Given the description of an element on the screen output the (x, y) to click on. 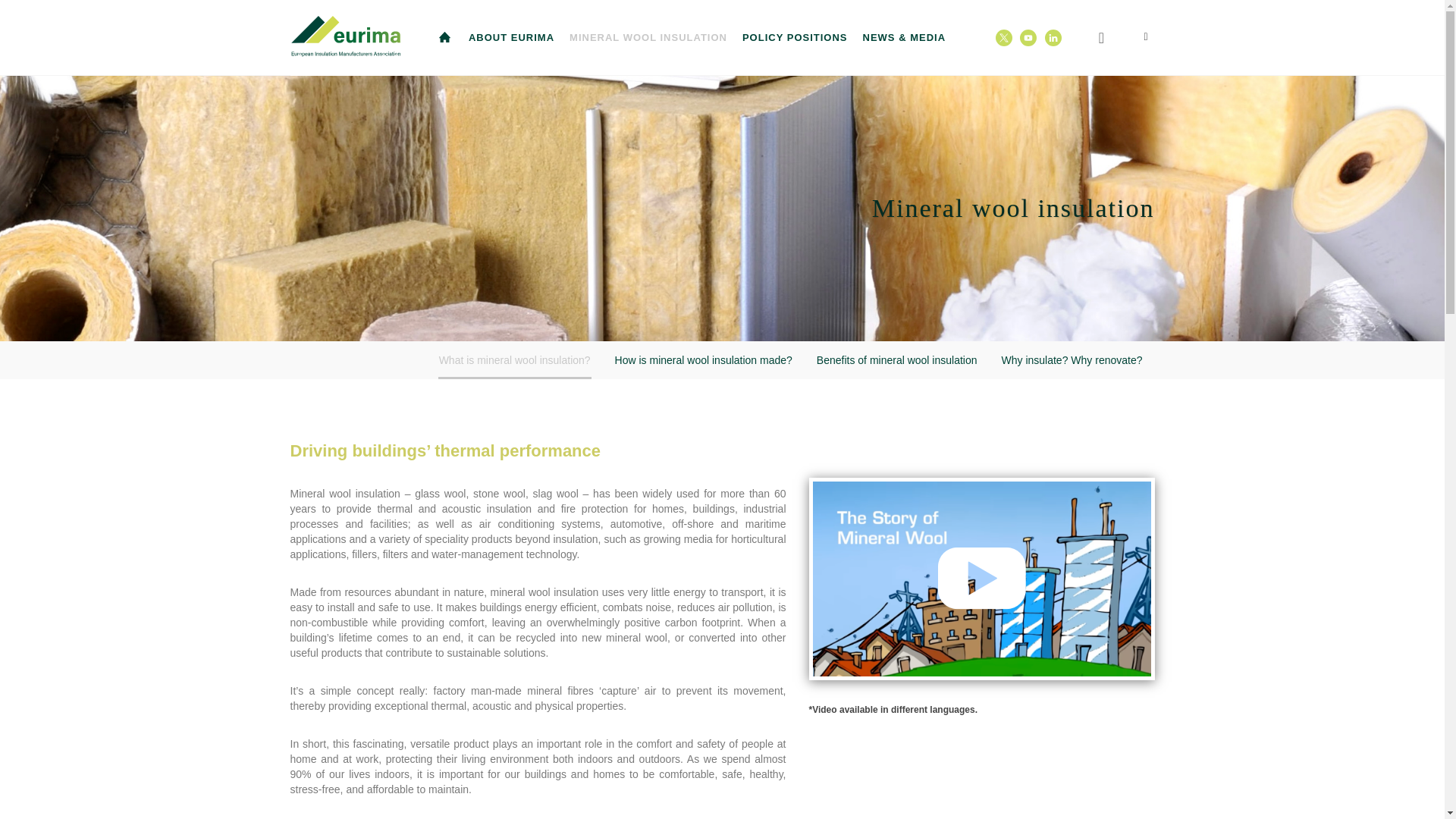
POLICY POSITIONS (795, 38)
MINERAL WOOL INSULATION (648, 38)
ABOUT EURIMA (511, 38)
